Given the description of an element on the screen output the (x, y) to click on. 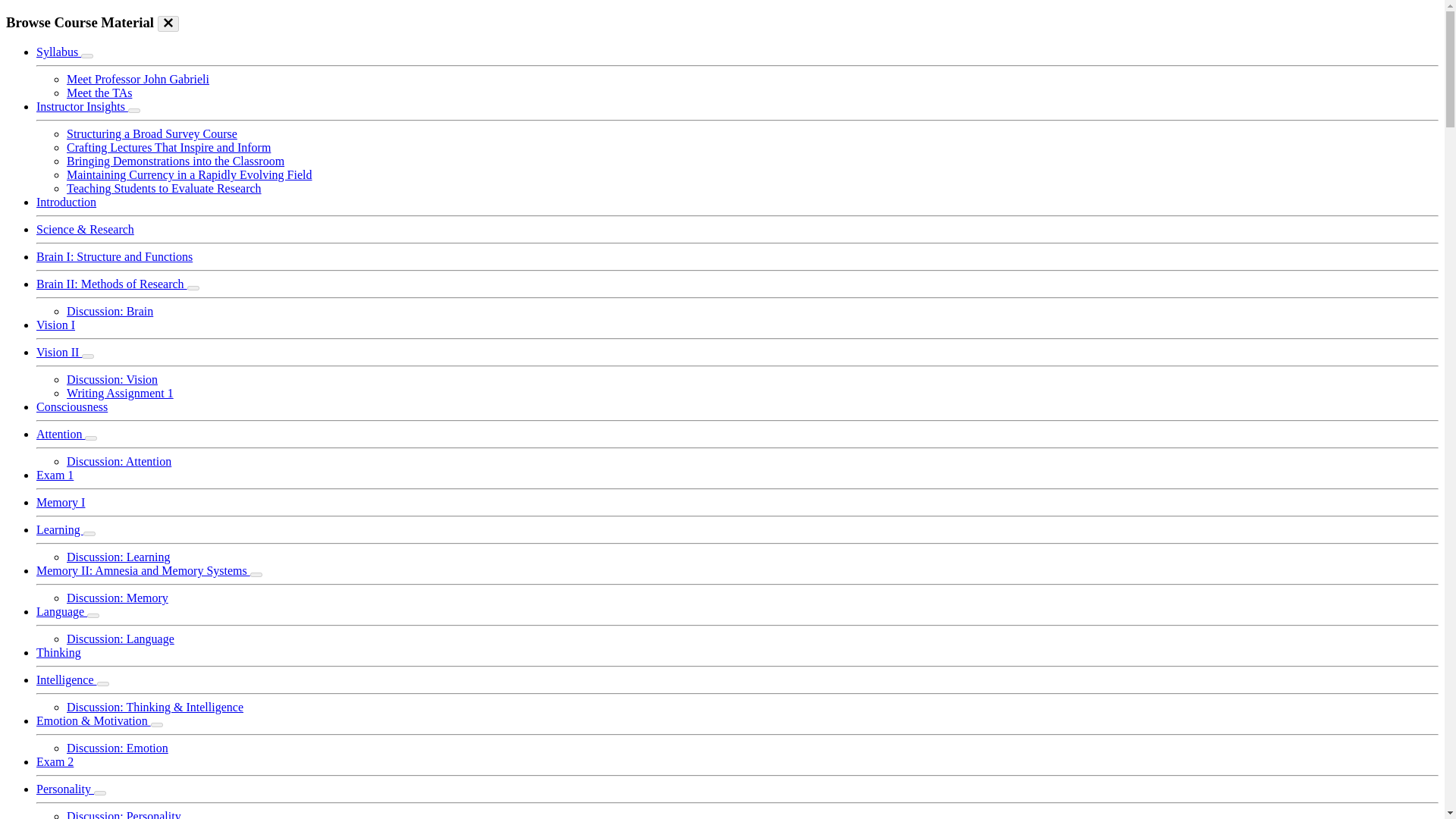
Consciousness (71, 406)
Discussion: Attention (118, 461)
Exam 1 (55, 474)
Brain II: Methods of Research (111, 283)
Crafting Lectures That Inspire and Inform (168, 146)
Meet the TAs (99, 92)
Introduction (66, 201)
Memory II: Amnesia and Memory Systems (143, 570)
Learning (59, 529)
Structuring a Broad Survey Course (151, 133)
